Given the description of an element on the screen output the (x, y) to click on. 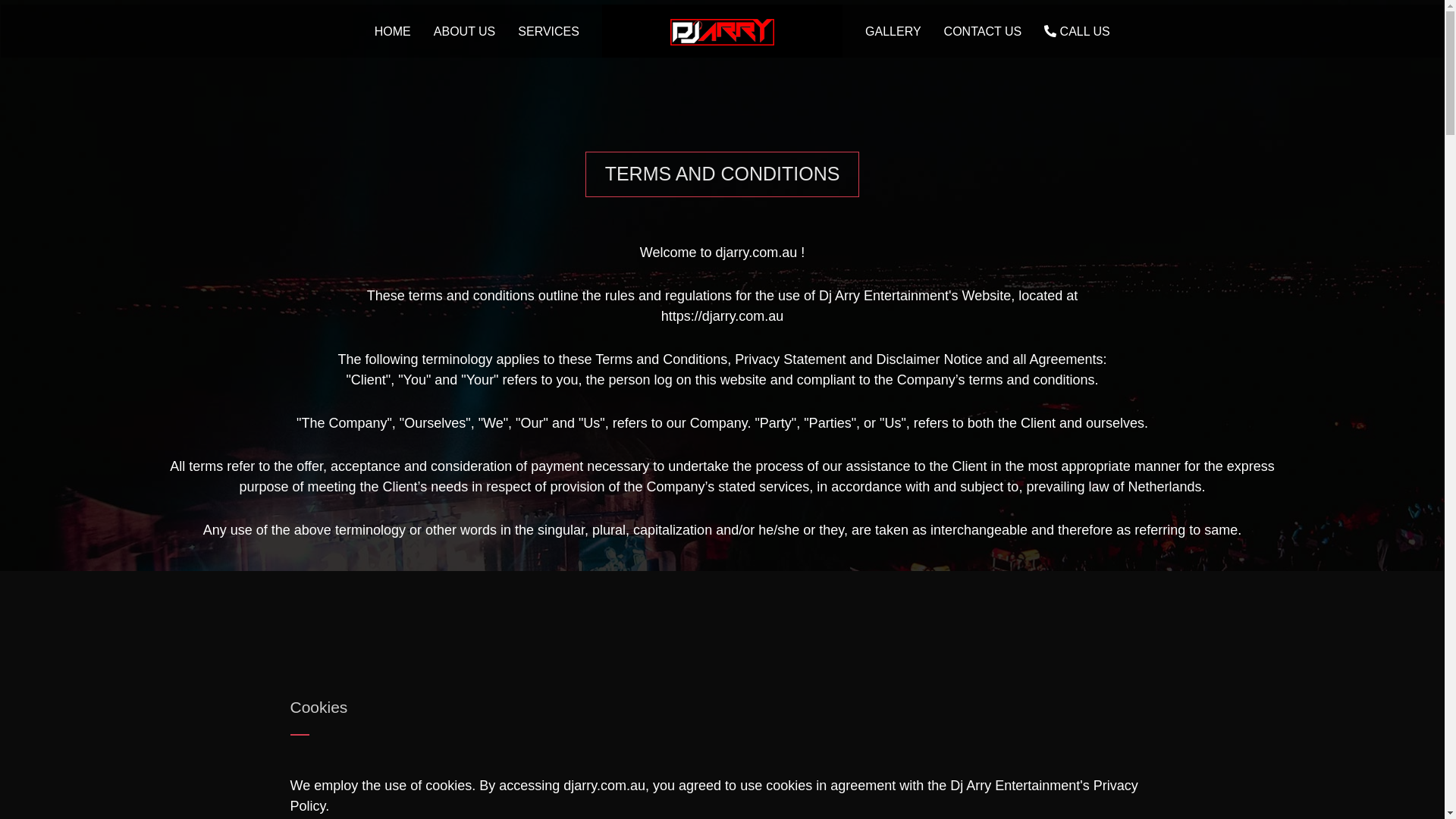
CONTACT US Element type: text (982, 30)
SERVICES Element type: text (548, 30)
HOME Element type: text (392, 30)
GALLERY Element type: text (892, 30)
CALL US Element type: text (1076, 30)
ABOUT US Element type: text (464, 30)
